Given the description of an element on the screen output the (x, y) to click on. 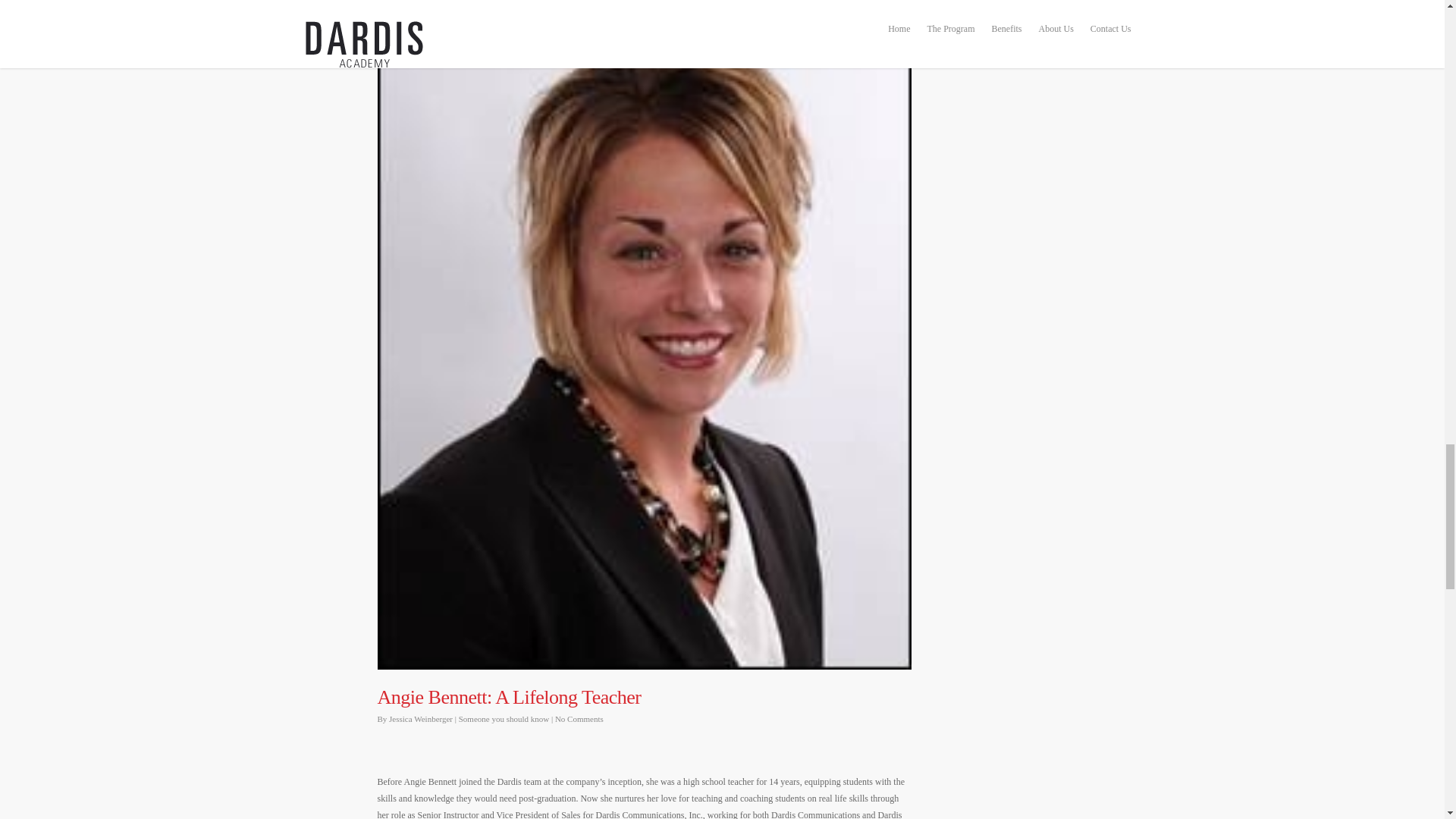
No Comments (579, 718)
Posts by Jessica Weinberger (420, 718)
Angie Bennett: A Lifelong Teacher (509, 697)
Someone you should know (503, 718)
Jessica Weinberger (420, 718)
